Given the description of an element on the screen output the (x, y) to click on. 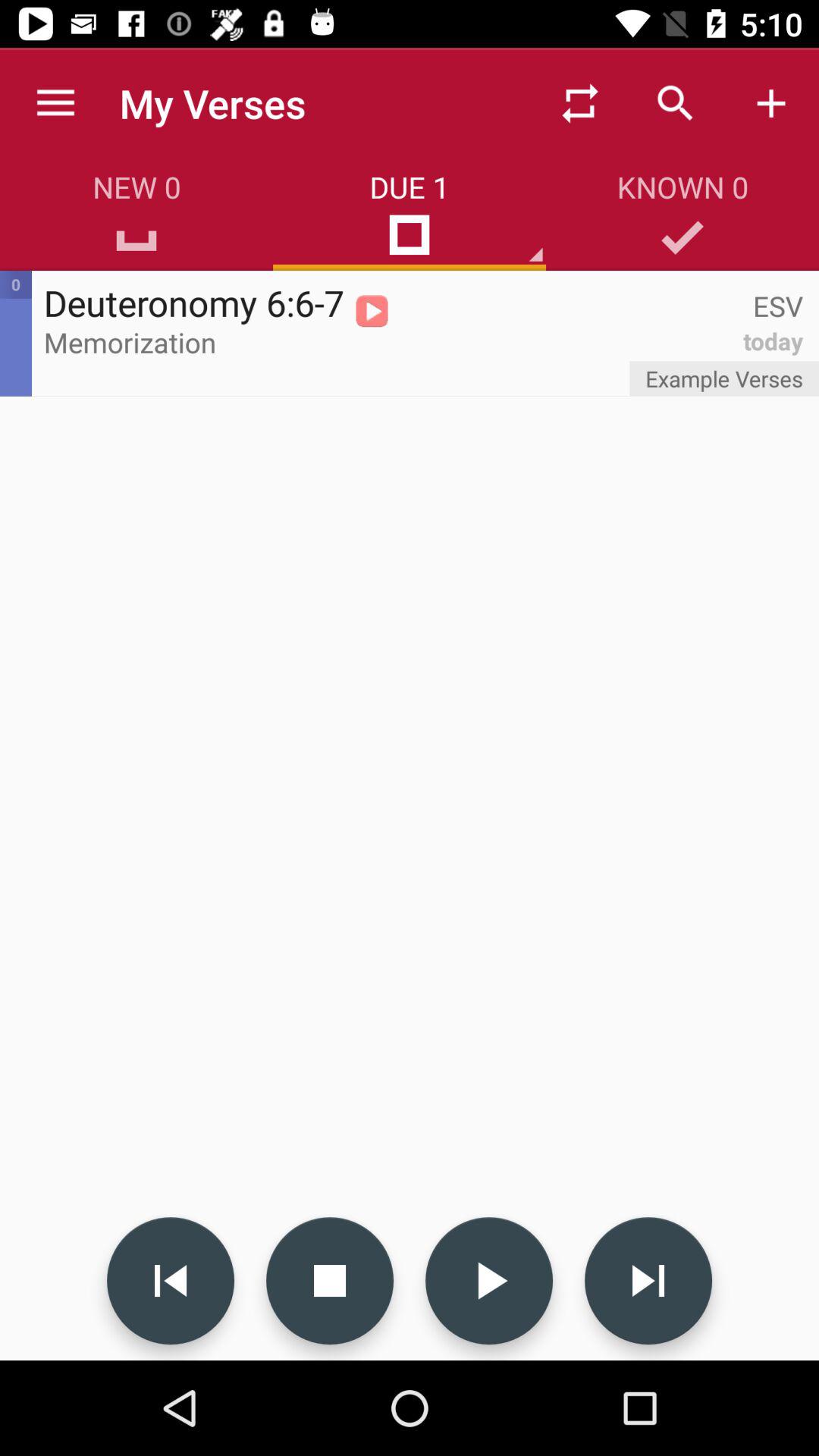
select the icon to the left of my verses (55, 103)
